Given the description of an element on the screen output the (x, y) to click on. 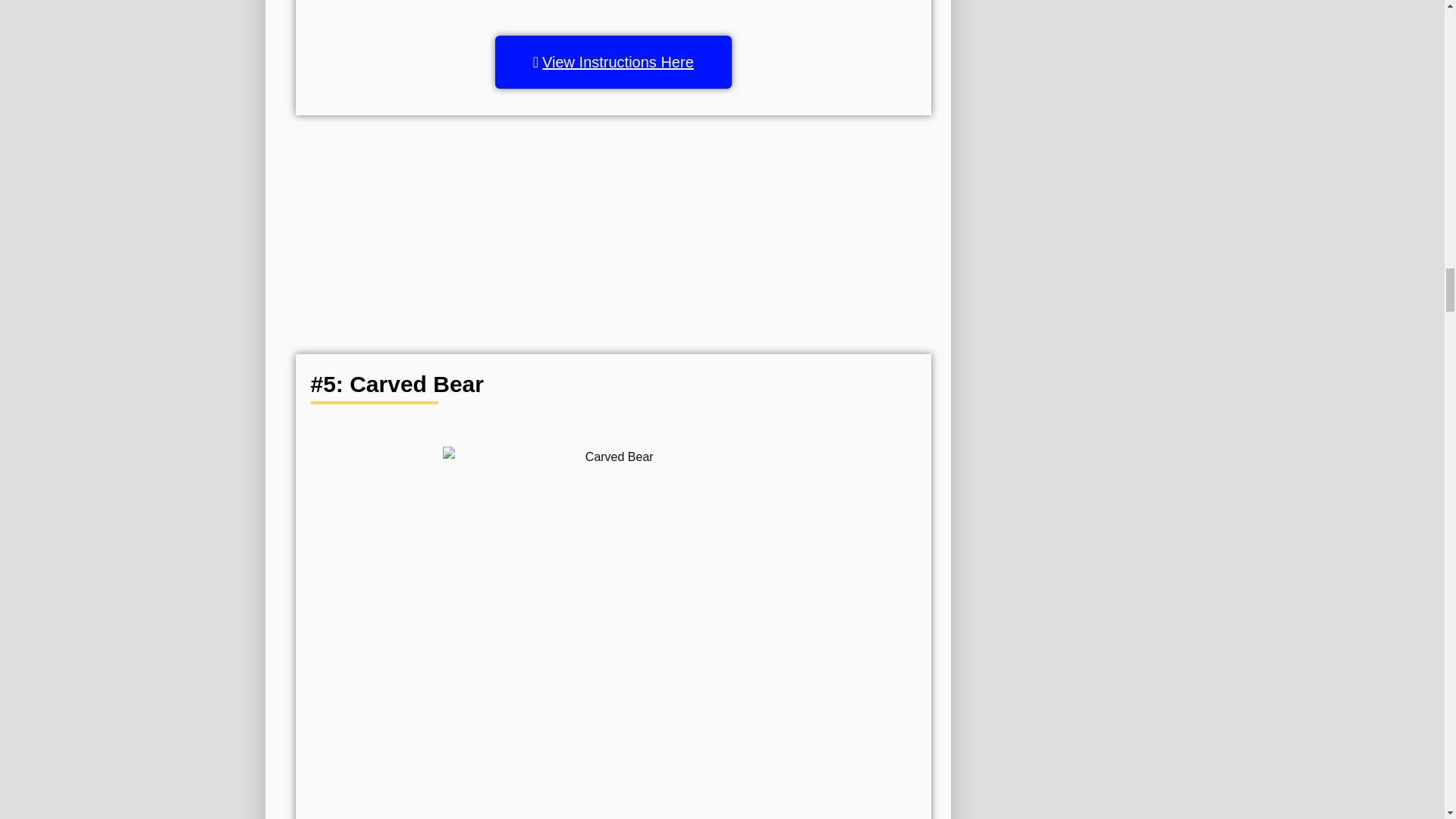
View Instructions Here (613, 62)
Carved Bear (613, 593)
